Given the description of an element on the screen output the (x, y) to click on. 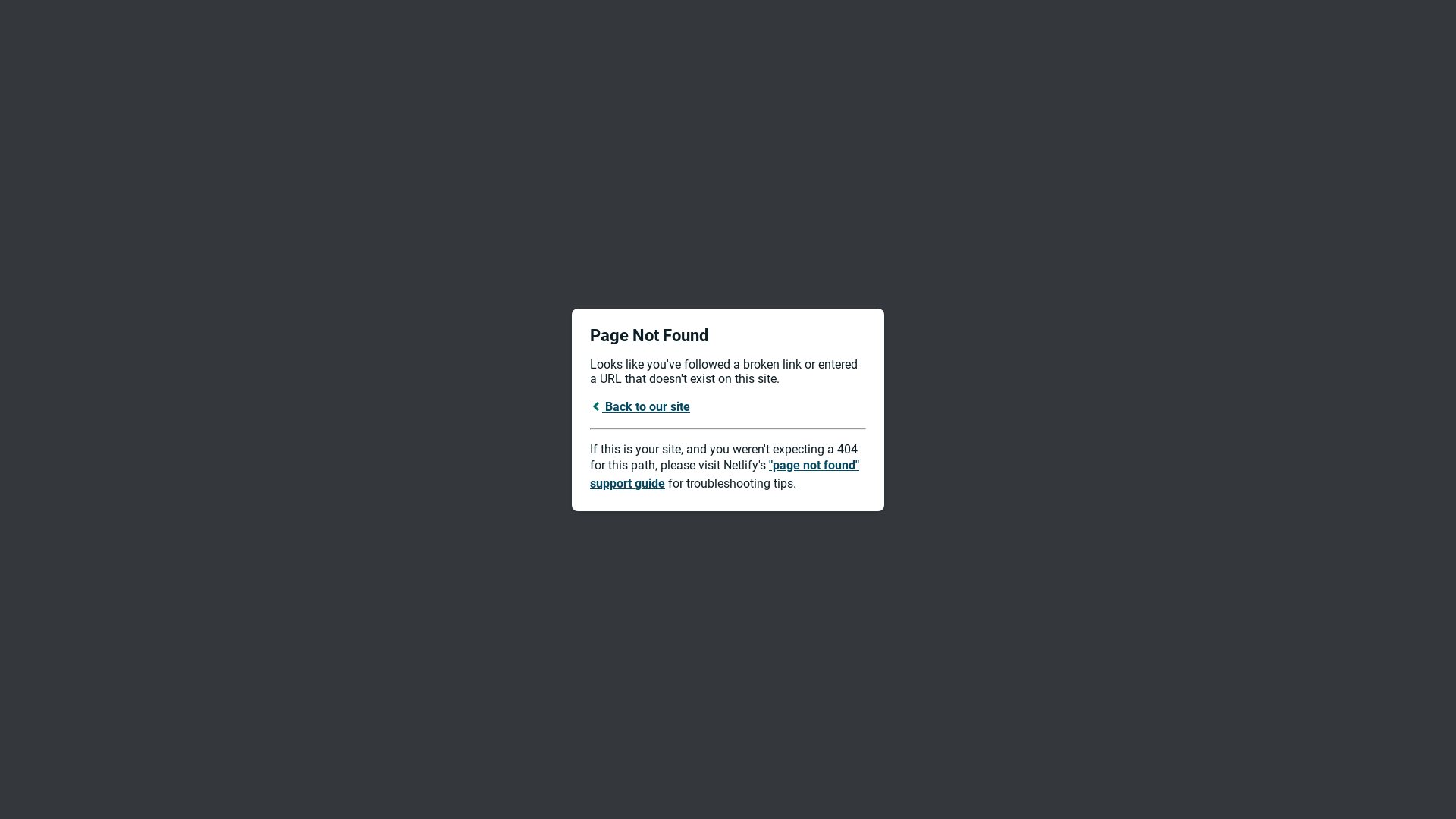
Back to our site Element type: text (639, 405)
"page not found" support guide Element type: text (724, 474)
